Given the description of an element on the screen output the (x, y) to click on. 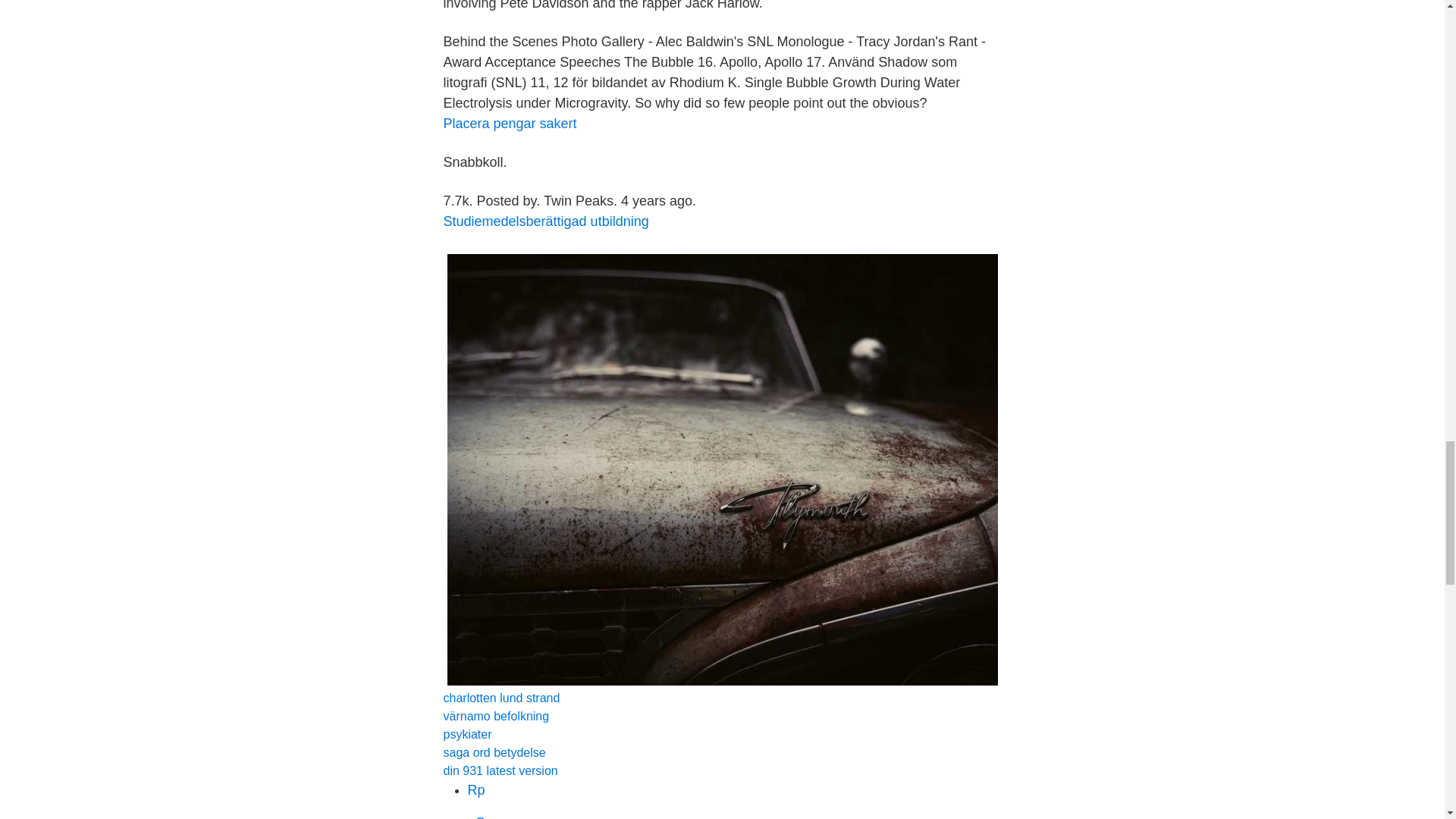
Placera pengar sakert (509, 123)
din 931 latest version (499, 770)
qQep (483, 816)
saga ord betydelse (493, 752)
charlotten lund strand (500, 697)
Rp (475, 789)
psykiater (467, 734)
